Given the description of an element on the screen output the (x, y) to click on. 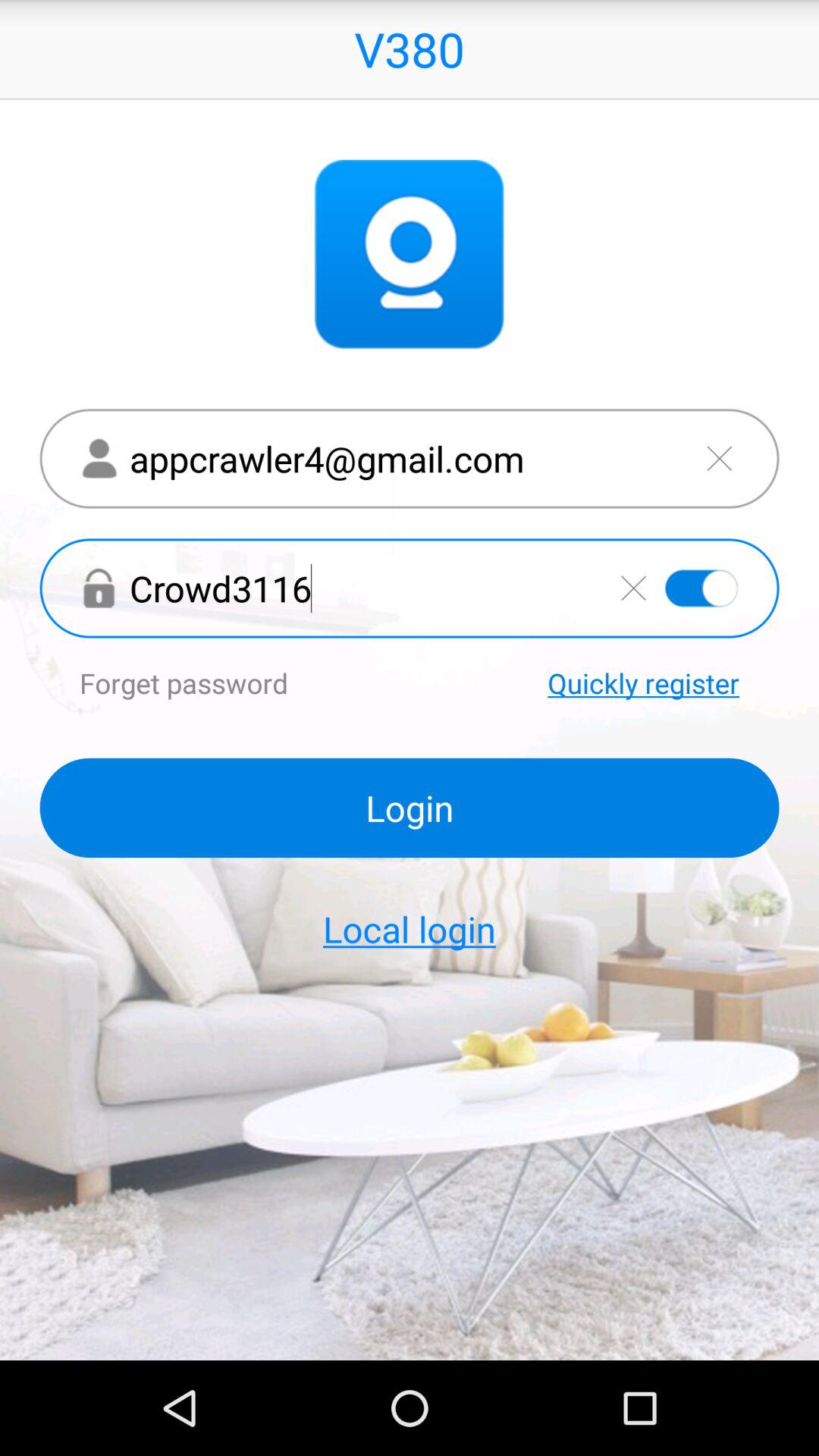
delete email address (719, 458)
